Given the description of an element on the screen output the (x, y) to click on. 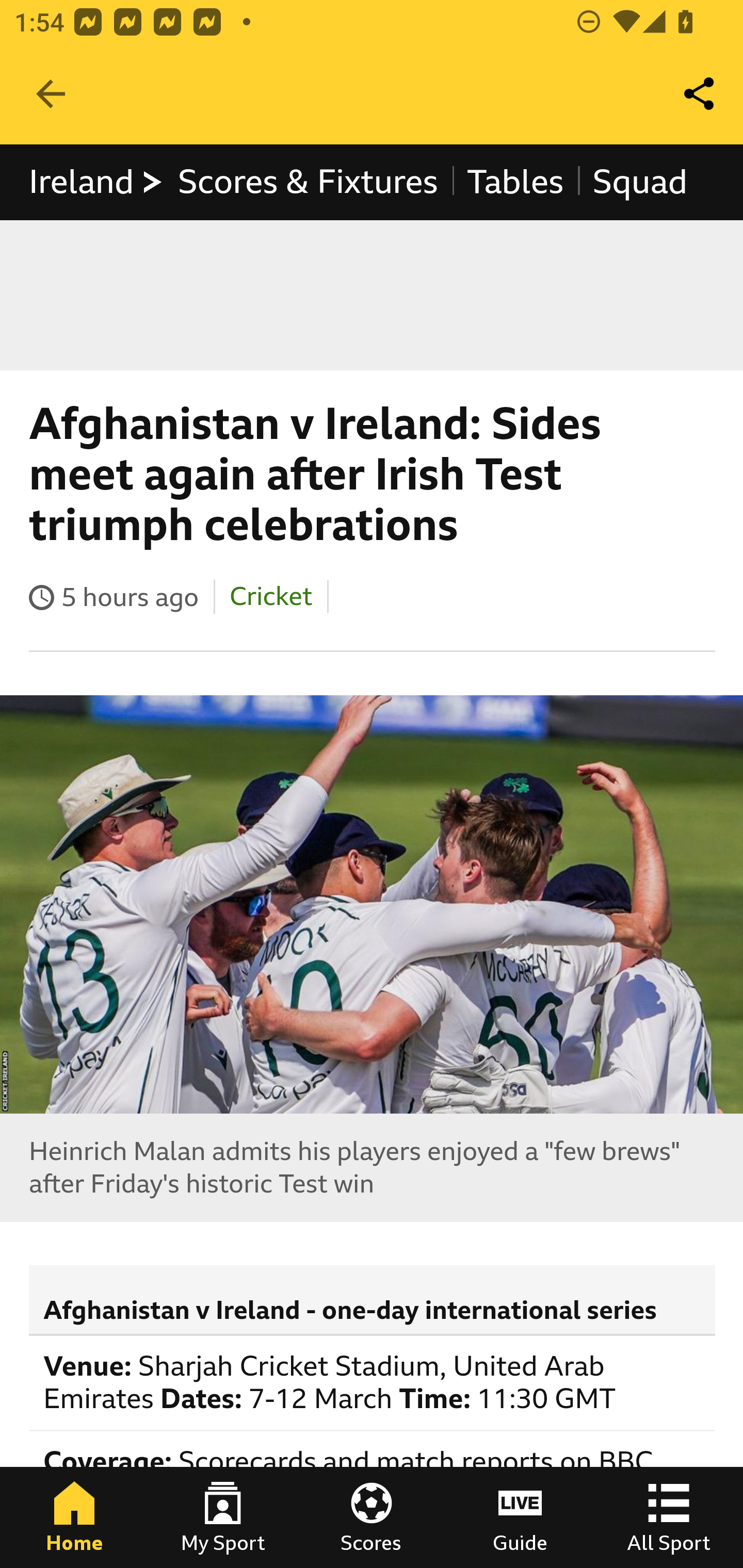
Navigate up (50, 93)
Share (699, 93)
Ireland  (96, 181)
Scores & Fixtures (307, 181)
Tables (515, 181)
Squad (640, 181)
Cricket (270, 596)
My Sport (222, 1517)
Scores (371, 1517)
Guide (519, 1517)
All Sport (668, 1517)
